Given the description of an element on the screen output the (x, y) to click on. 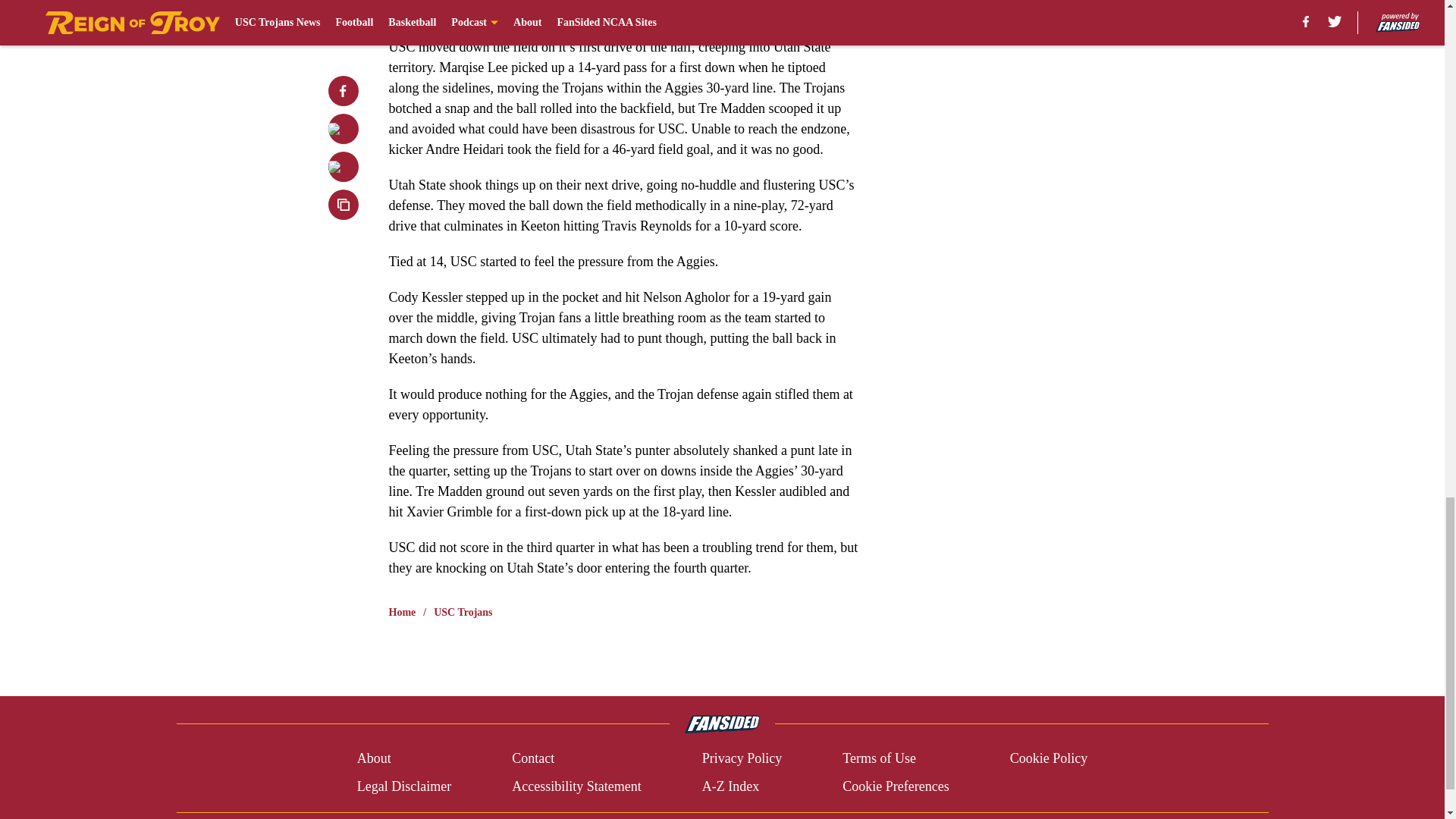
Cookie Policy (1048, 758)
Terms of Use (879, 758)
Cookie Preferences (896, 786)
Privacy Policy (742, 758)
Accessibility Statement (576, 786)
Contact (533, 758)
A-Z Index (729, 786)
USC Trojans (462, 612)
About (373, 758)
Legal Disclaimer (403, 786)
